Given the description of an element on the screen output the (x, y) to click on. 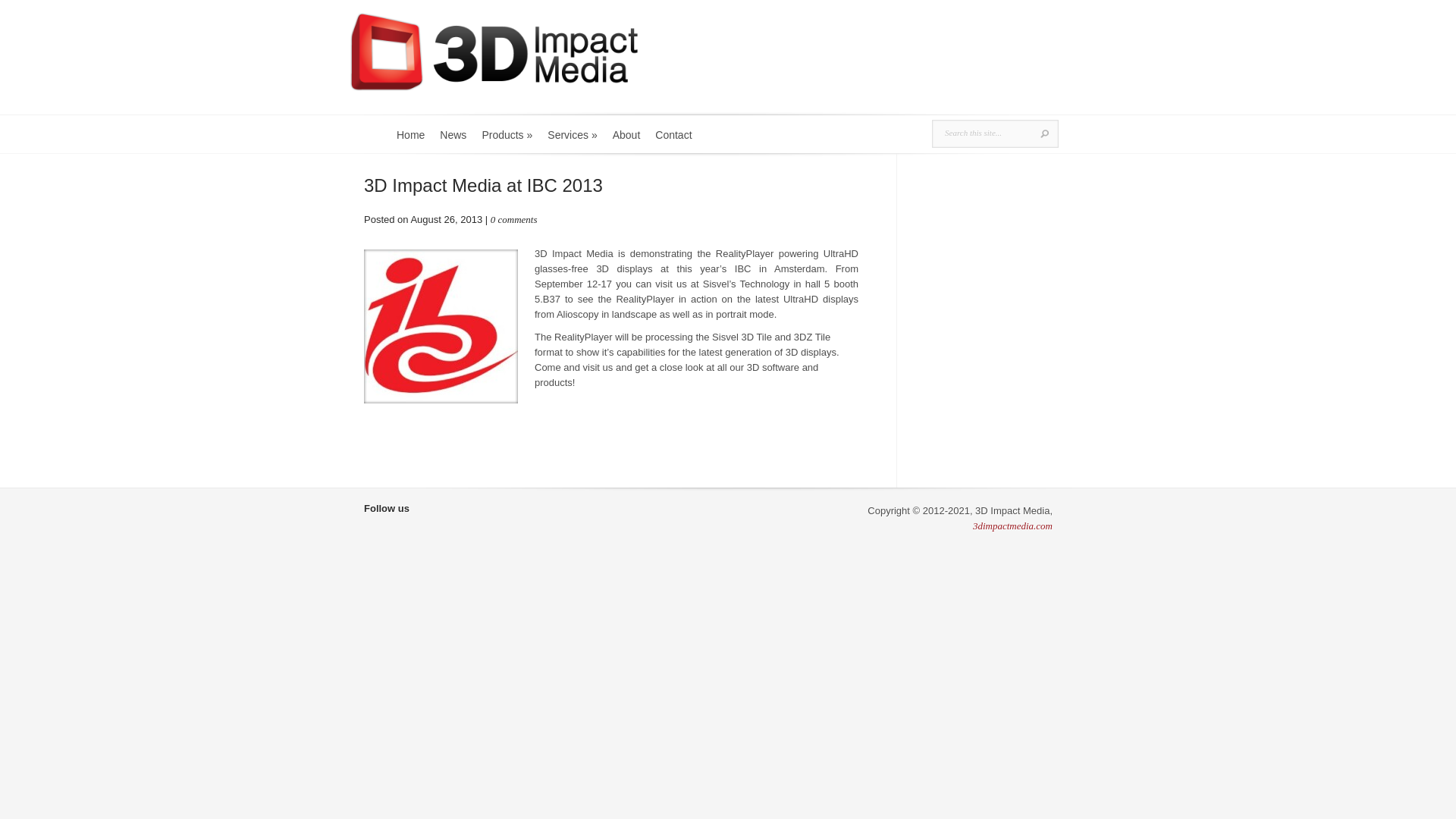
0 comments Element type: text (513, 219)
Home Element type: text (410, 140)
Contact Element type: text (673, 140)
News Element type: text (452, 140)
3dimpactmedia.com Element type: text (1012, 525)
About Element type: text (626, 140)
